Given the description of an element on the screen output the (x, y) to click on. 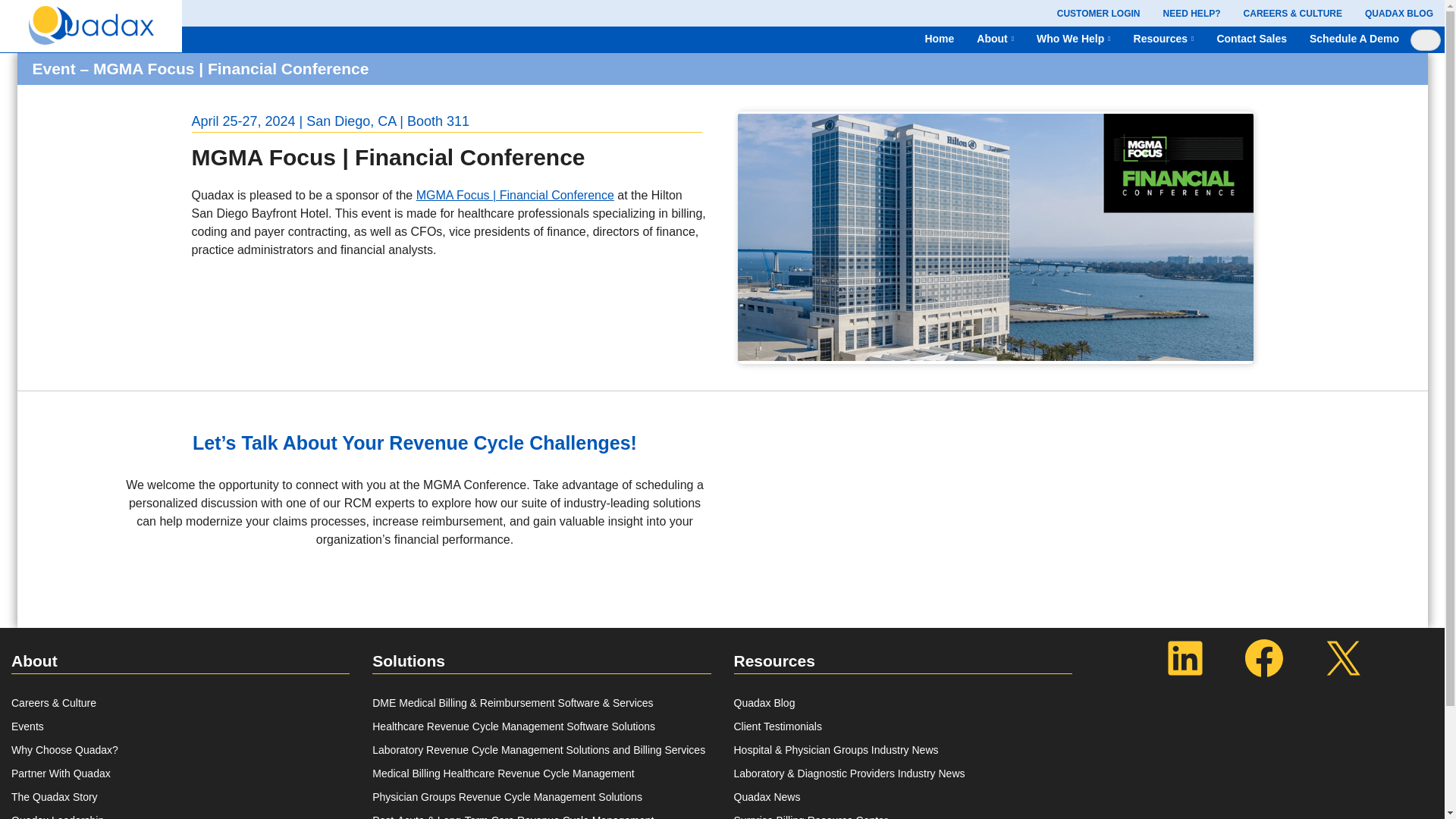
NEED HELP? (1192, 12)
Quadax (90, 22)
QUADAX BLOG (1398, 12)
CUSTOMER LOGIN (1098, 12)
Who We Help (1069, 39)
Home (938, 38)
Form 0 (1079, 467)
About (991, 39)
